Given the description of an element on the screen output the (x, y) to click on. 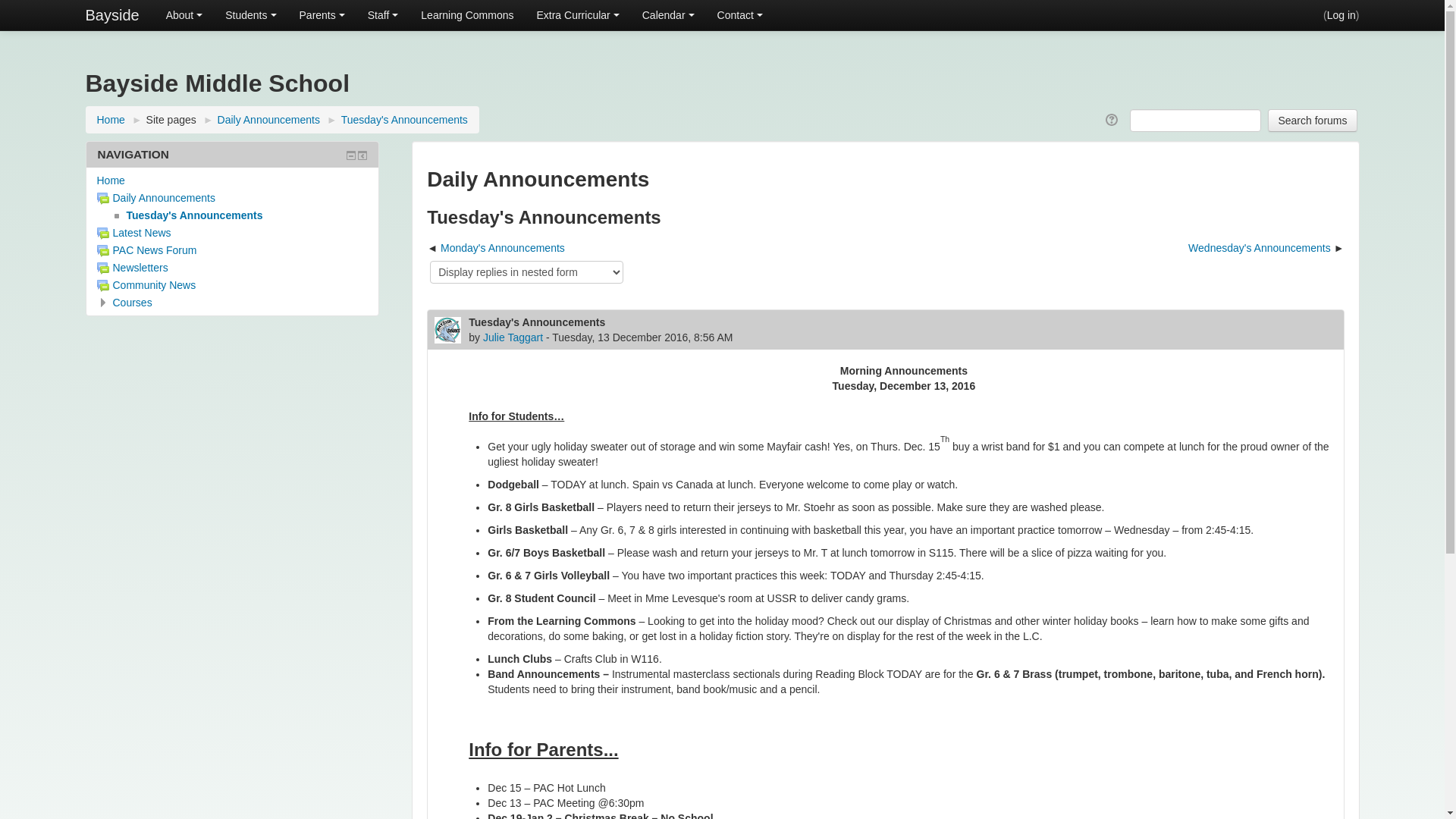
Forum Element type: hover (103, 285)
Forum Element type: hover (103, 198)
Daily Announcements Element type: text (268, 119)
Forum Element type: hover (103, 250)
Help with Search Element type: hover (1112, 119)
Contact Element type: text (740, 15)
Forum Element type: hover (103, 268)
Dock Navigation block Element type: hover (362, 155)
Staff Element type: text (383, 15)
Extra Curricular Element type: text (577, 15)
Log in Element type: text (1341, 15)
Students Element type: text (250, 15)
Parents Element type: text (322, 15)
Home Element type: text (111, 180)
Julie Taggart Element type: text (512, 337)
Latest News Element type: text (134, 232)
About Element type: text (184, 15)
Forum Element type: hover (103, 233)
Tuesday's Announcements Element type: text (404, 119)
Calendar Element type: text (668, 15)
Hide Navigation block Element type: hover (350, 155)
Bayside Element type: text (111, 15)
Newsletters Element type: text (132, 267)
Search forums Element type: text (1311, 120)
Home Element type: text (111, 119)
Wednesday's Announcements Element type: text (1259, 247)
Learning Commons Element type: text (466, 15)
Daily Announcements Element type: text (156, 197)
PAC News Forum Element type: text (147, 250)
Courses Element type: text (131, 302)
Picture of Julie Taggart Element type: hover (447, 329)
Tuesday's Announcements Element type: text (186, 215)
Monday's Announcements Element type: text (502, 247)
Community News Element type: text (146, 285)
